Given the description of an element on the screen output the (x, y) to click on. 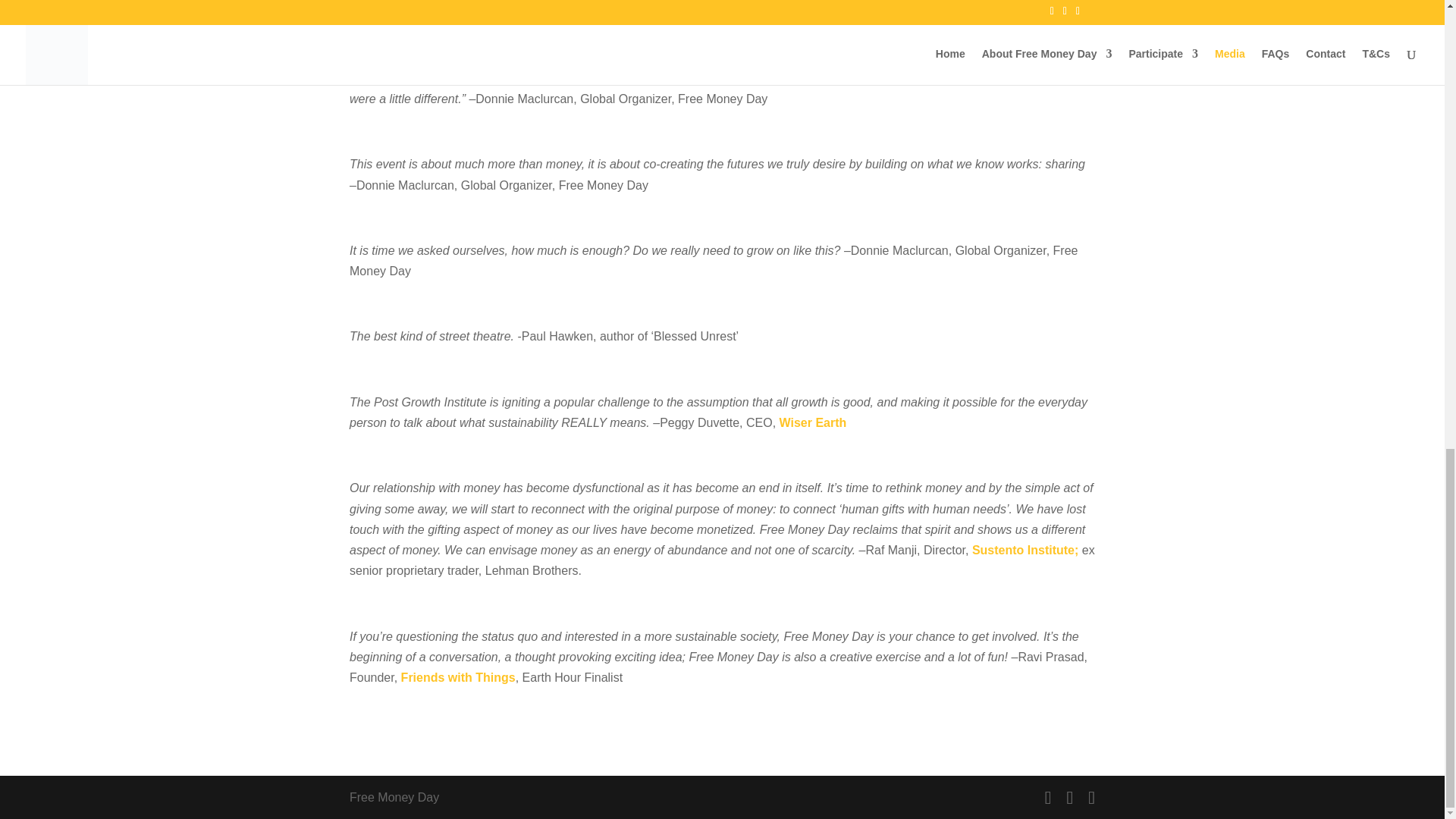
Wiser Earth (812, 422)
Friends with Things (458, 676)
Friends with Things Website (458, 676)
Sustento Institute; (1025, 549)
